Given the description of an element on the screen output the (x, y) to click on. 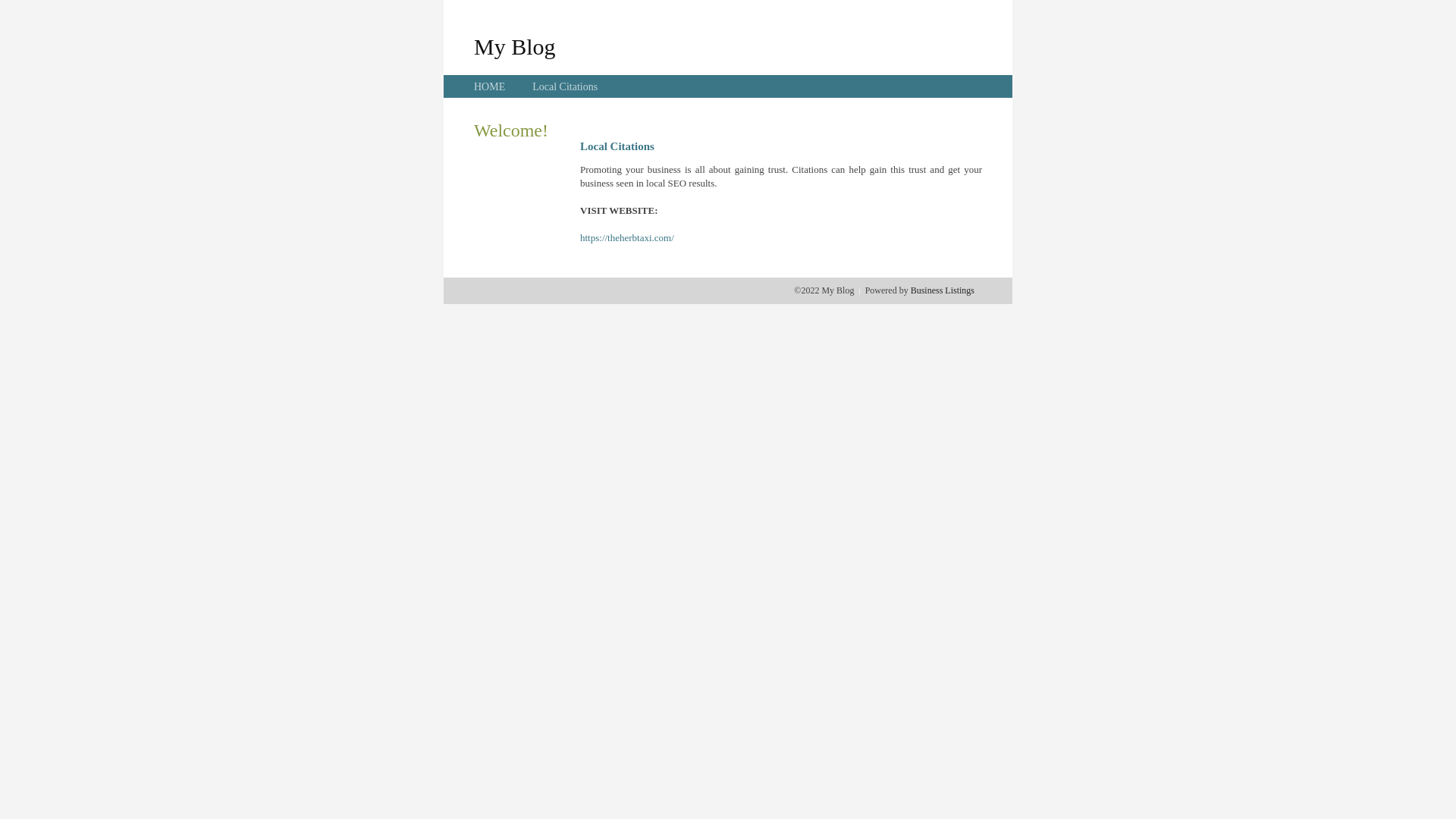
HOME Element type: text (489, 86)
Local Citations Element type: text (564, 86)
My Blog Element type: text (514, 46)
https://theherbtaxi.com/ Element type: text (627, 237)
Business Listings Element type: text (942, 290)
